Given the description of an element on the screen output the (x, y) to click on. 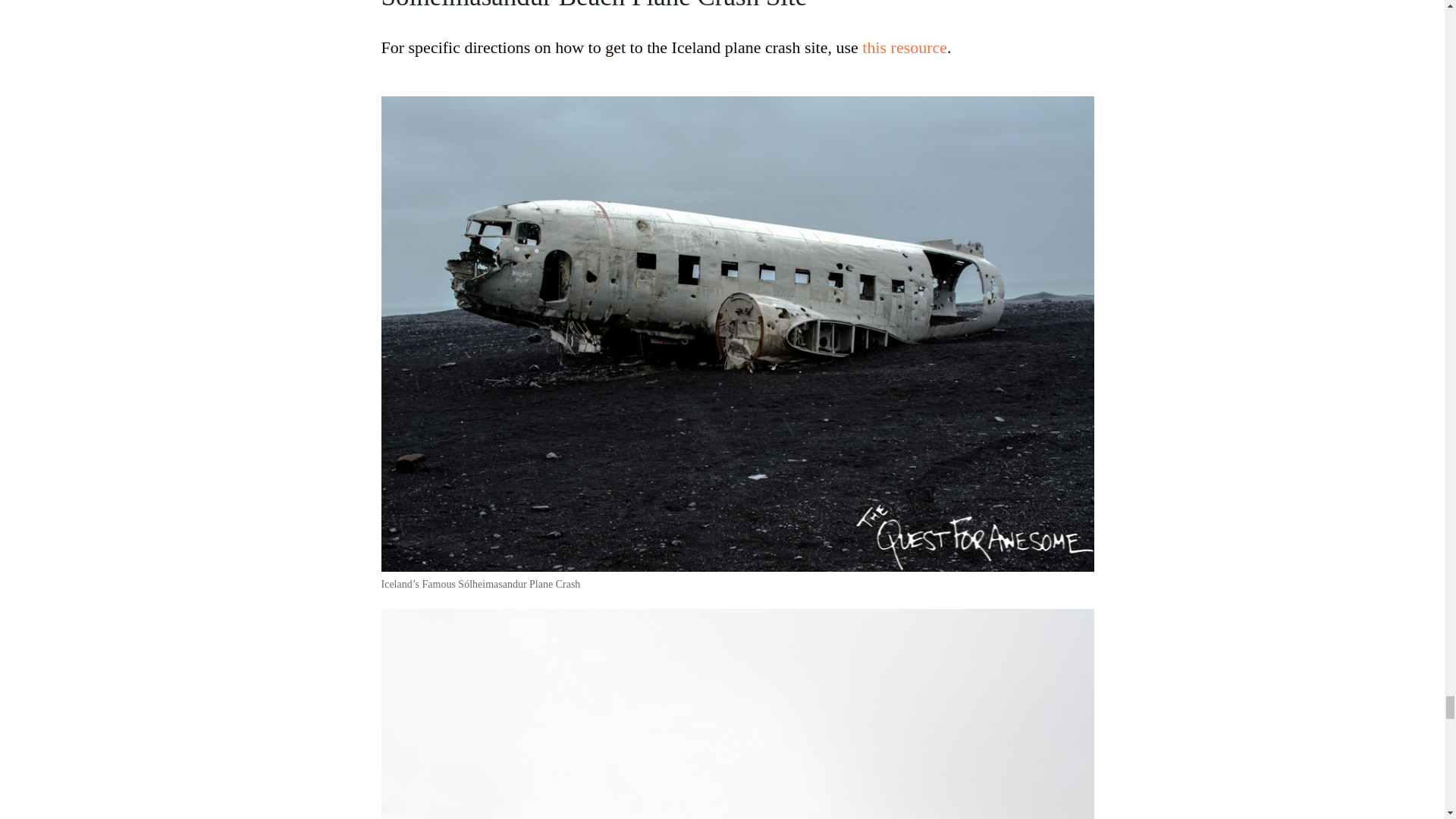
this resource (904, 46)
